Given the description of an element on the screen output the (x, y) to click on. 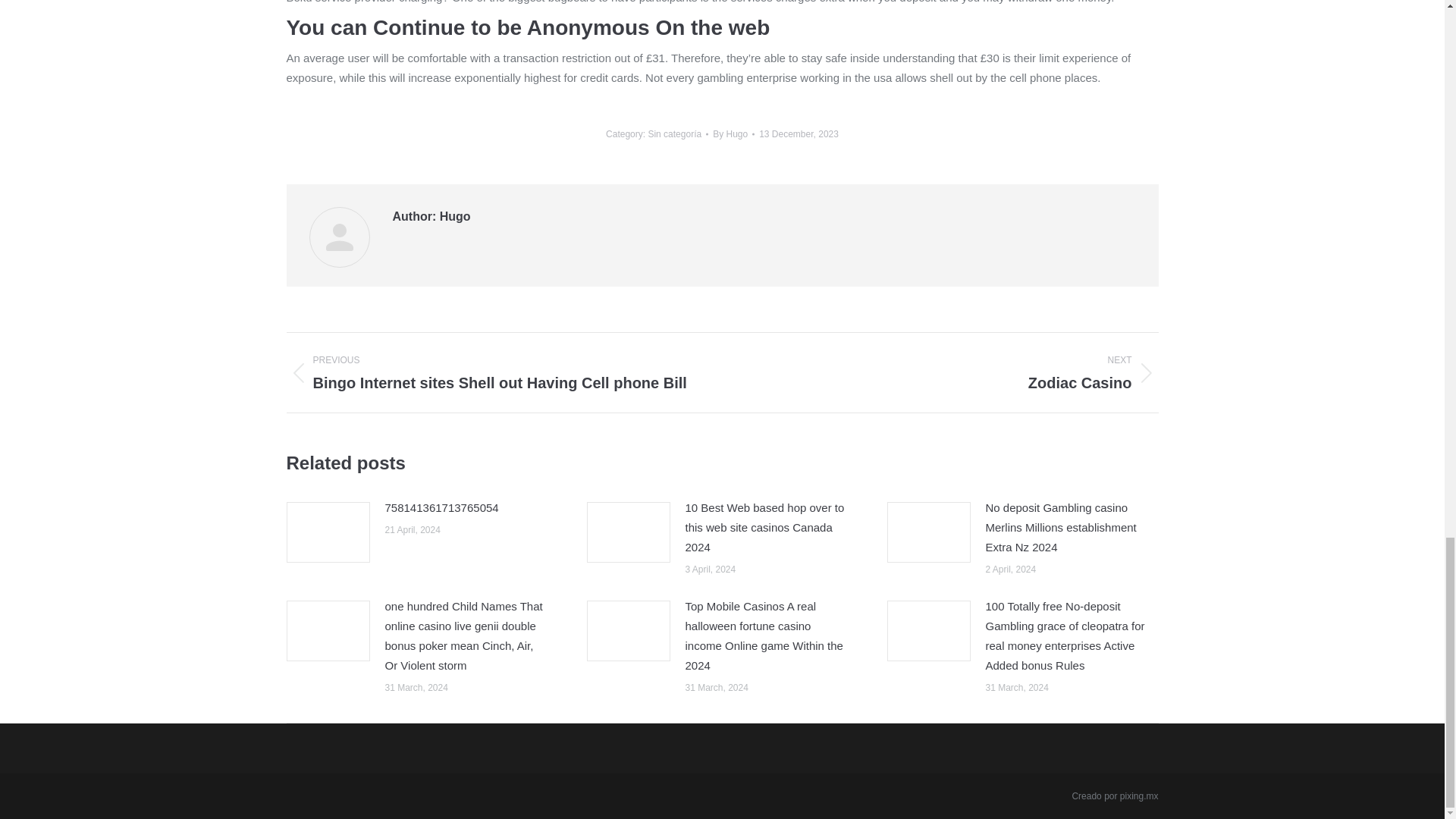
6:42 pm (798, 134)
By Hugo (733, 134)
758141361713765054 (950, 372)
View all posts by Hugo (442, 507)
13 December, 2023 (733, 134)
